Given the description of an element on the screen output the (x, y) to click on. 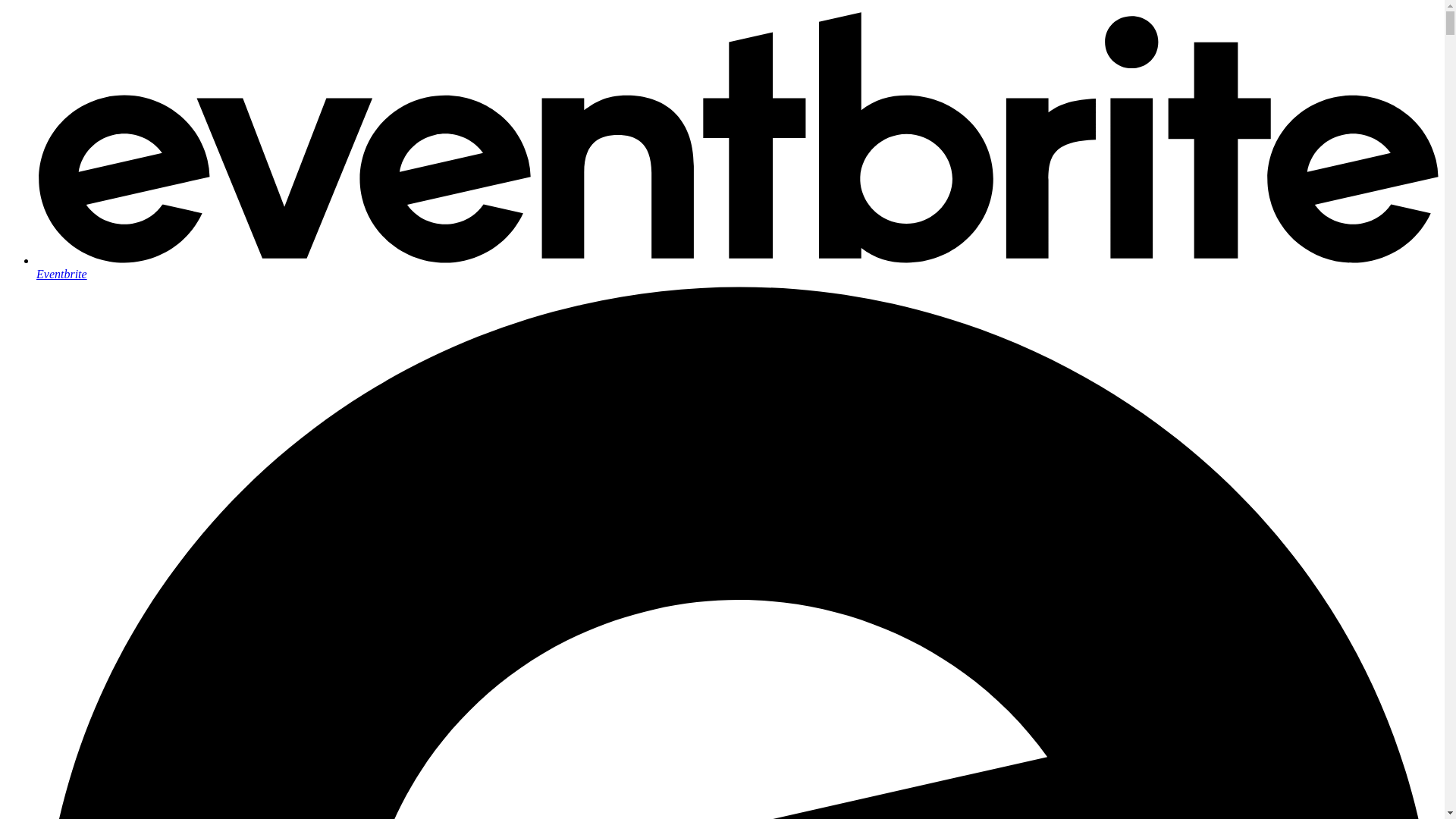
Eventbrite Element type: text (737, 267)
